Given the description of an element on the screen output the (x, y) to click on. 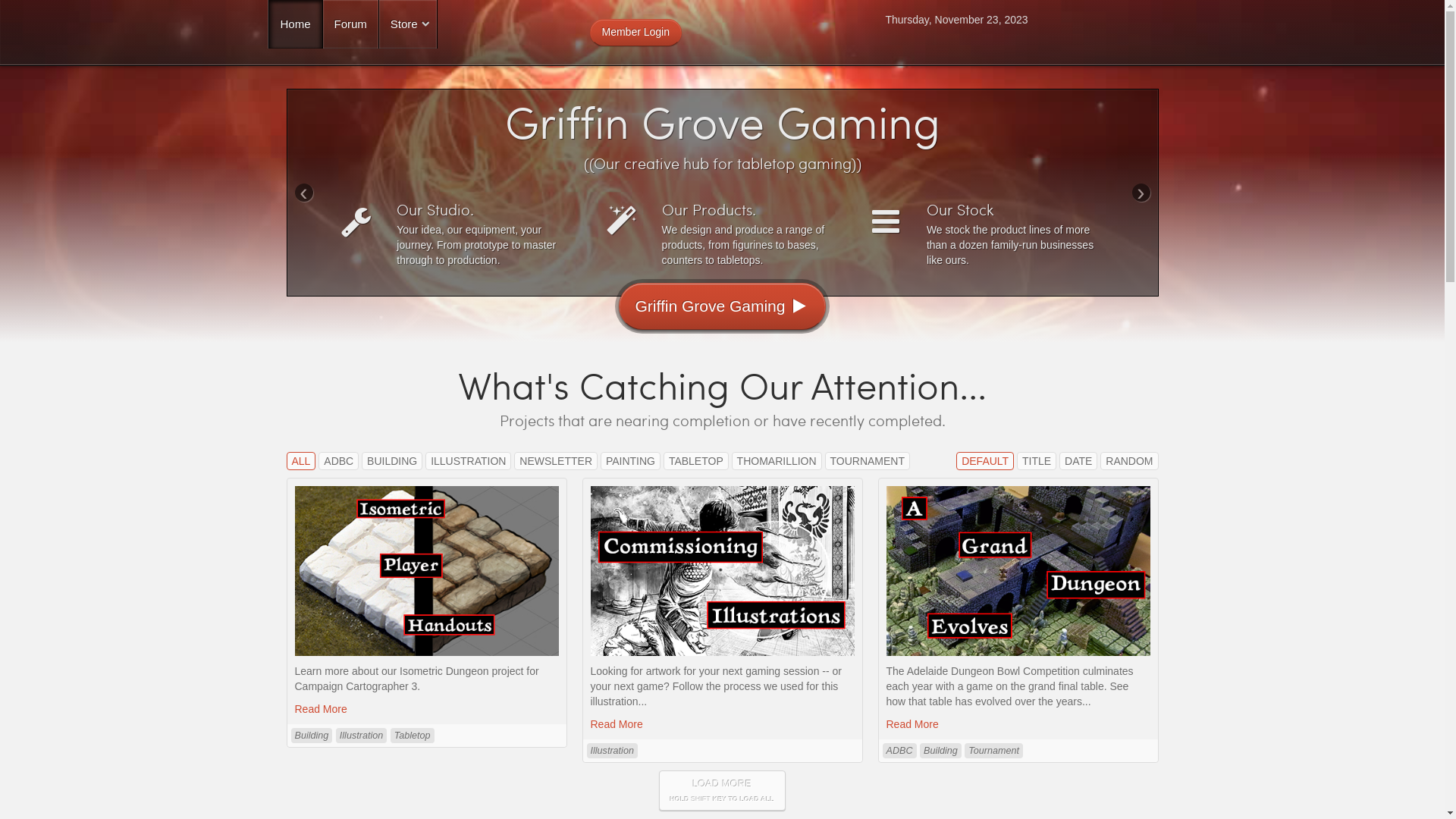
Store Element type: text (407, 24)
Griffin Grove Gaming Element type: text (721, 305)
Home Element type: text (295, 24)
Forum Element type: text (350, 24)
Read More Element type: text (426, 708)
Read More Element type: text (1017, 723)
Read More Element type: text (721, 723)
Member Login Element type: text (635, 32)
